Given the description of an element on the screen output the (x, y) to click on. 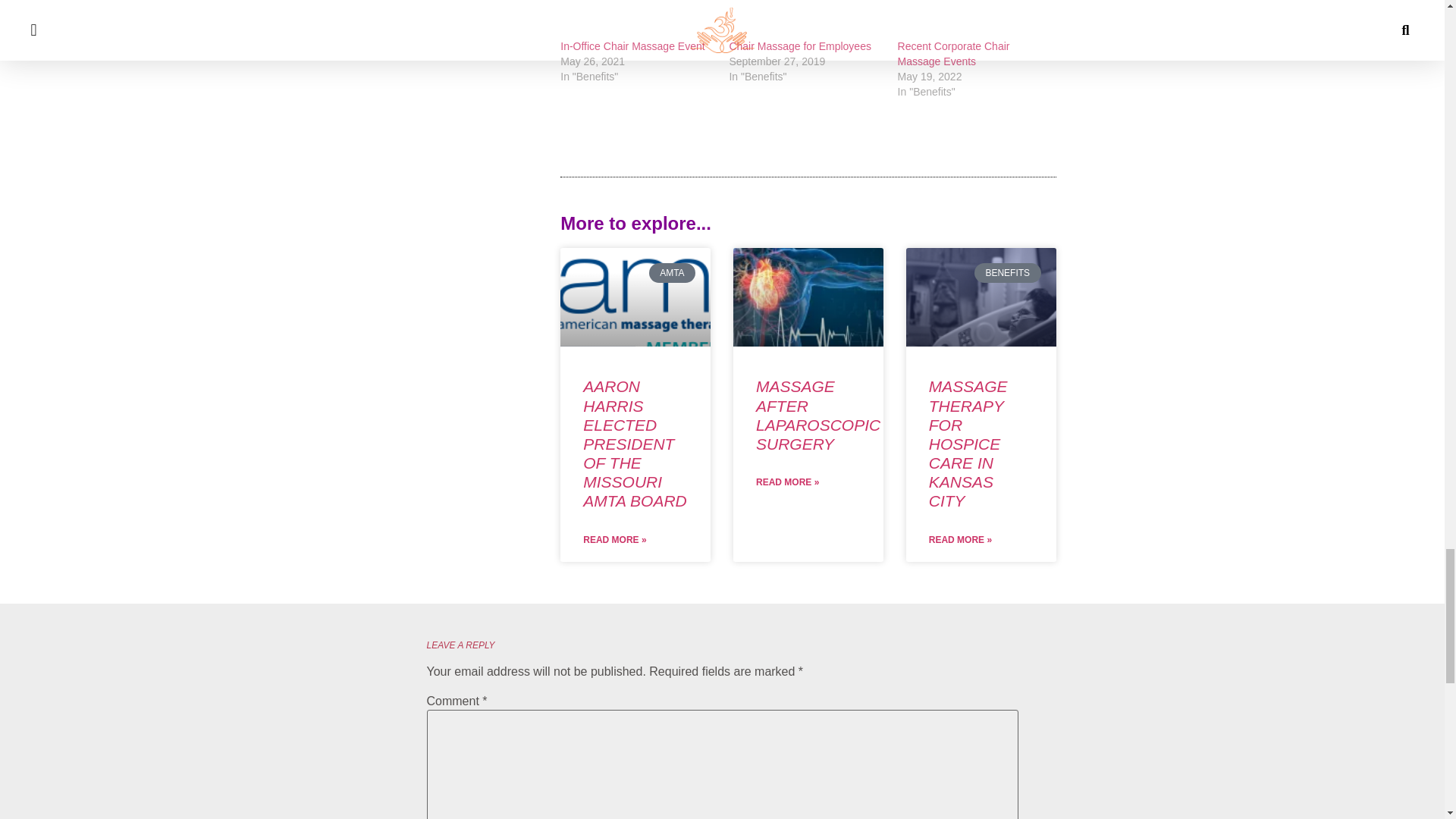
Recent Corporate Chair Massage Events (954, 53)
Recent Corporate Chair Massage Events (954, 53)
Chair Massage for Employees (805, 19)
In-Office Chair Massage Event (632, 46)
Chair Massage for Employees (799, 46)
In-Office Chair Massage Event (636, 19)
Chair Massage for Employees (799, 46)
Recent Corporate Chair Massage Events (974, 19)
In-Office Chair Massage Event (632, 46)
